Given the description of an element on the screen output the (x, y) to click on. 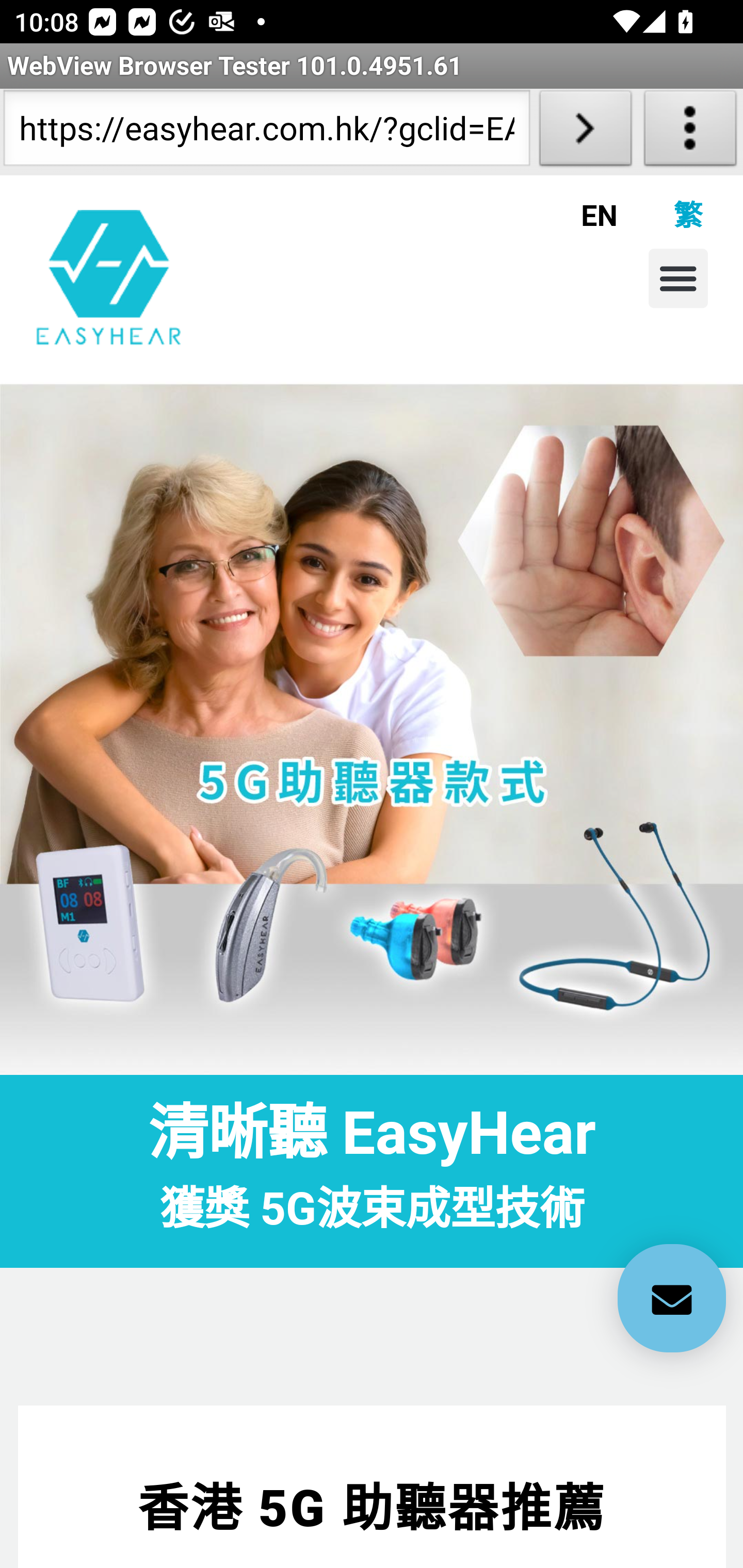
Load URL (585, 132)
About WebView (690, 132)
EN (574, 214)
繁 (660, 214)
easyhear.com (109, 277)
Menu Toggle (677, 277)
獲獎 5G助聽器款式 清晰聽 EasyHear (371, 728)
清晰聽 EasyHear 獲獎 5G波束成型技術 (371, 1170)
香港 5G 助聽器推薦 (372, 1509)
